Given the description of an element on the screen output the (x, y) to click on. 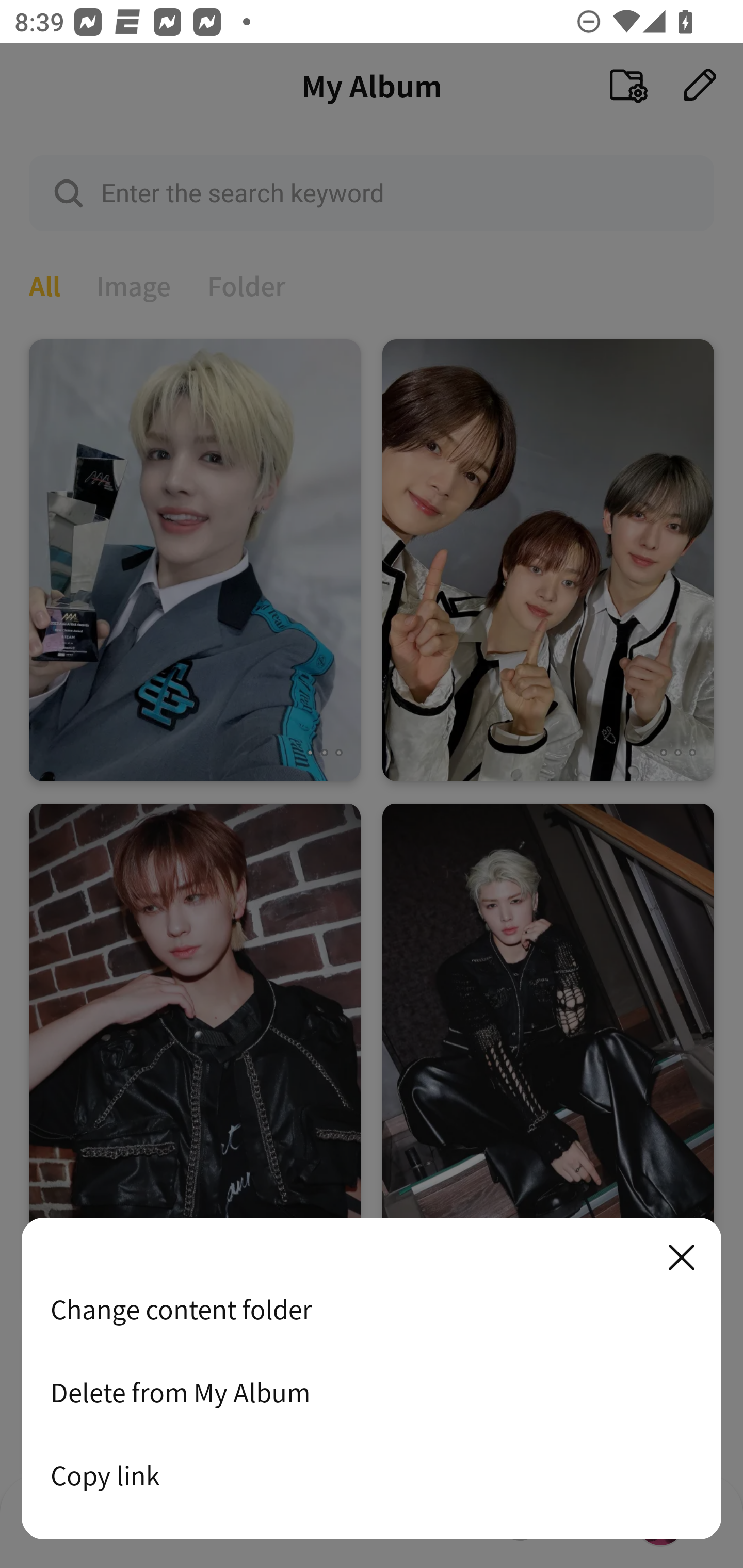
Change content folder (371, 1308)
Delete from My Album (371, 1391)
Copy link (371, 1474)
